Given the description of an element on the screen output the (x, y) to click on. 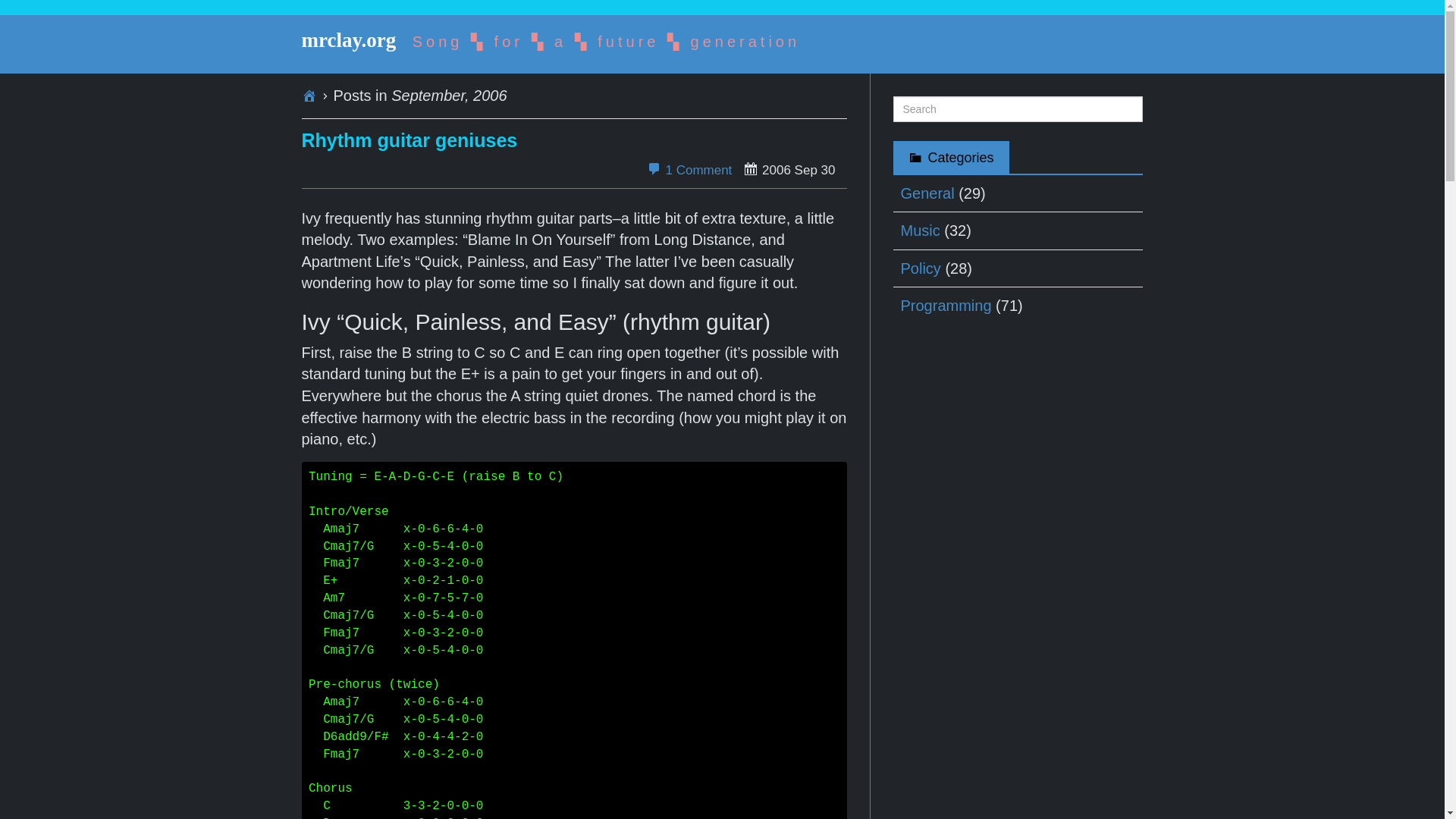
Search for: (1017, 109)
1 Comment (689, 169)
mrclay.org (348, 39)
Rhythm guitar geniuses (409, 139)
Saturday, September 30, 2006 1:52 pm (788, 169)
